Given the description of an element on the screen output the (x, y) to click on. 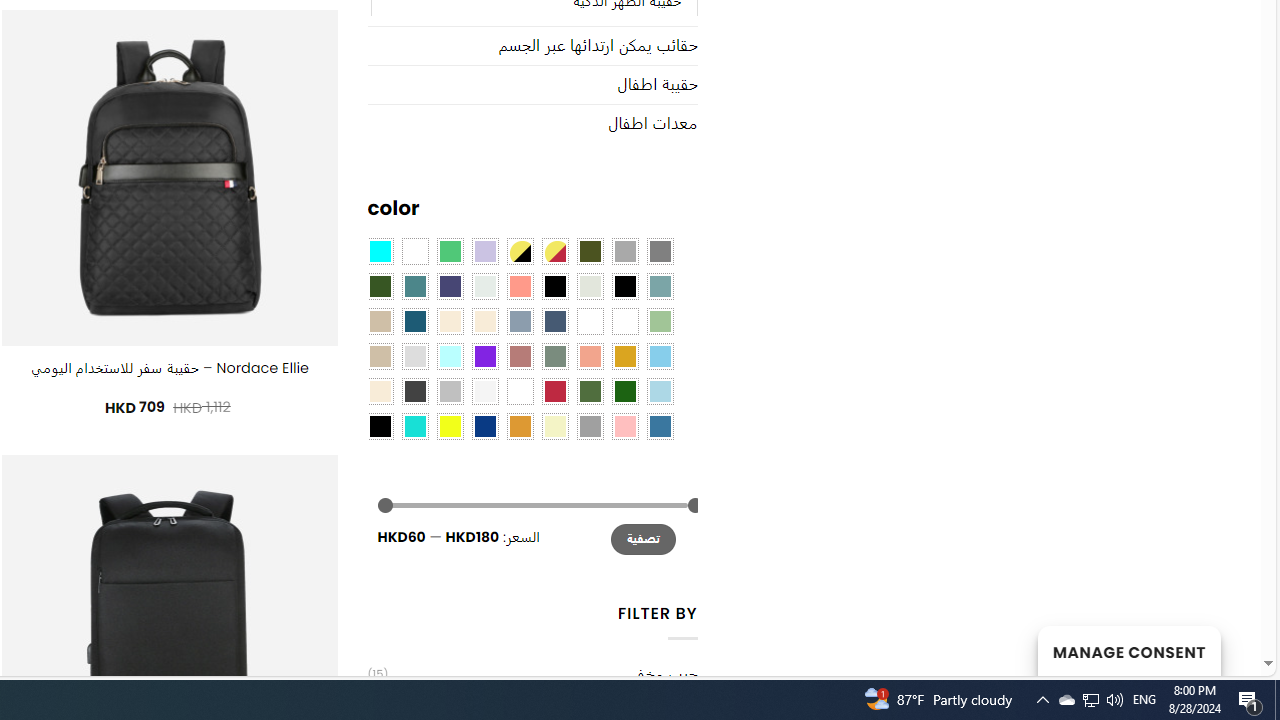
Mint (449, 355)
Teal (414, 285)
Dull Nickle (484, 285)
Ash Gray (589, 285)
